Given the description of an element on the screen output the (x, y) to click on. 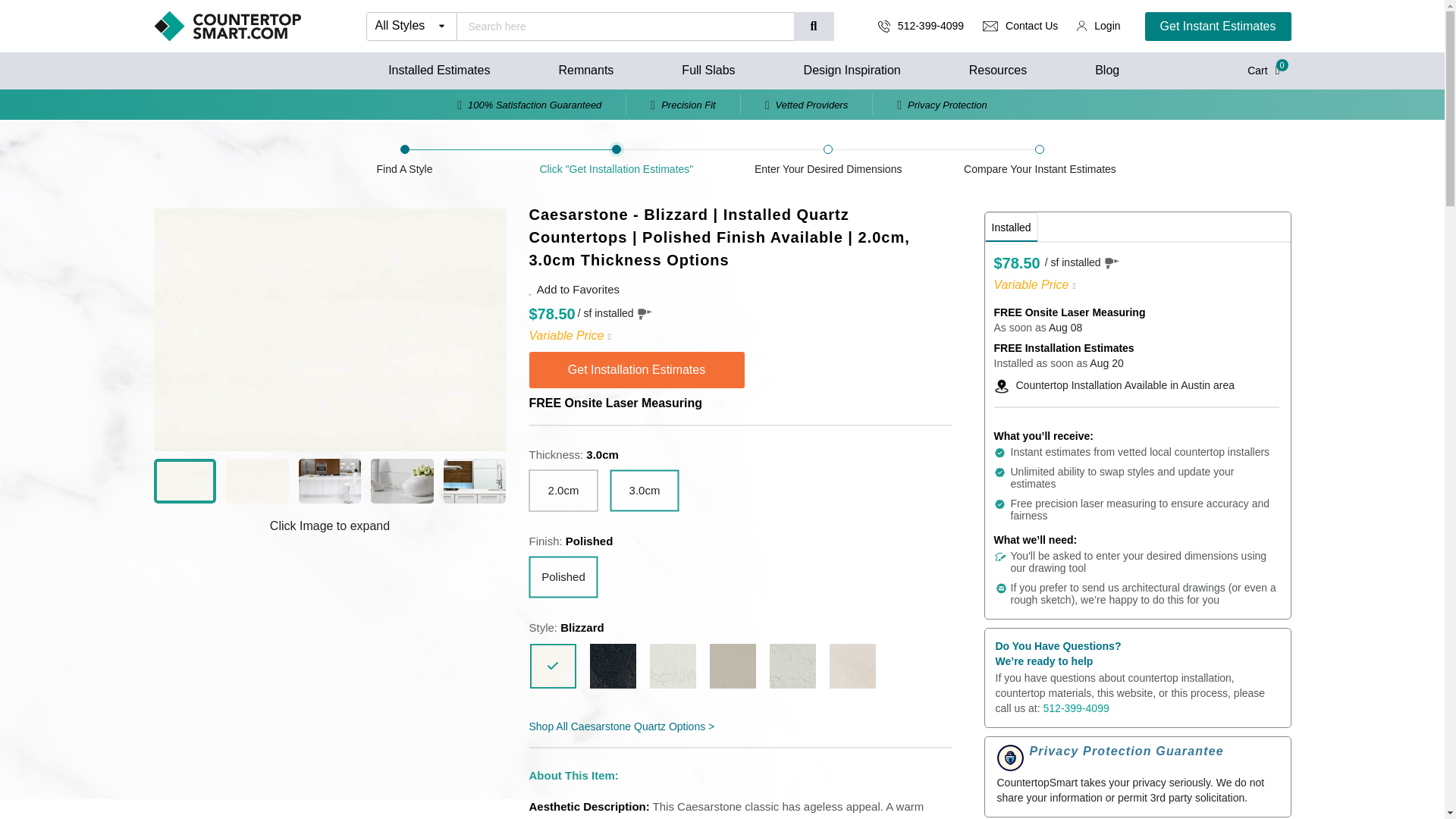
Contact Us (1032, 25)
Caesarstone - Darcrest (612, 665)
Get Instant Estimates (1217, 26)
Installed Estimates (438, 69)
Design Inspiration (852, 69)
Caesarstone - Montblanc (791, 665)
Caesarstone - Blizzard (552, 665)
Remnants (584, 69)
Resources (997, 69)
Blog (1106, 69)
512-399-4099 (930, 25)
Caesarstone - Calacatta Nuvo (672, 665)
Caesarstone - Adamina (852, 665)
Caesarstone - Stoneburst (732, 665)
Full Slabs (708, 69)
